Given the description of an element on the screen output the (x, y) to click on. 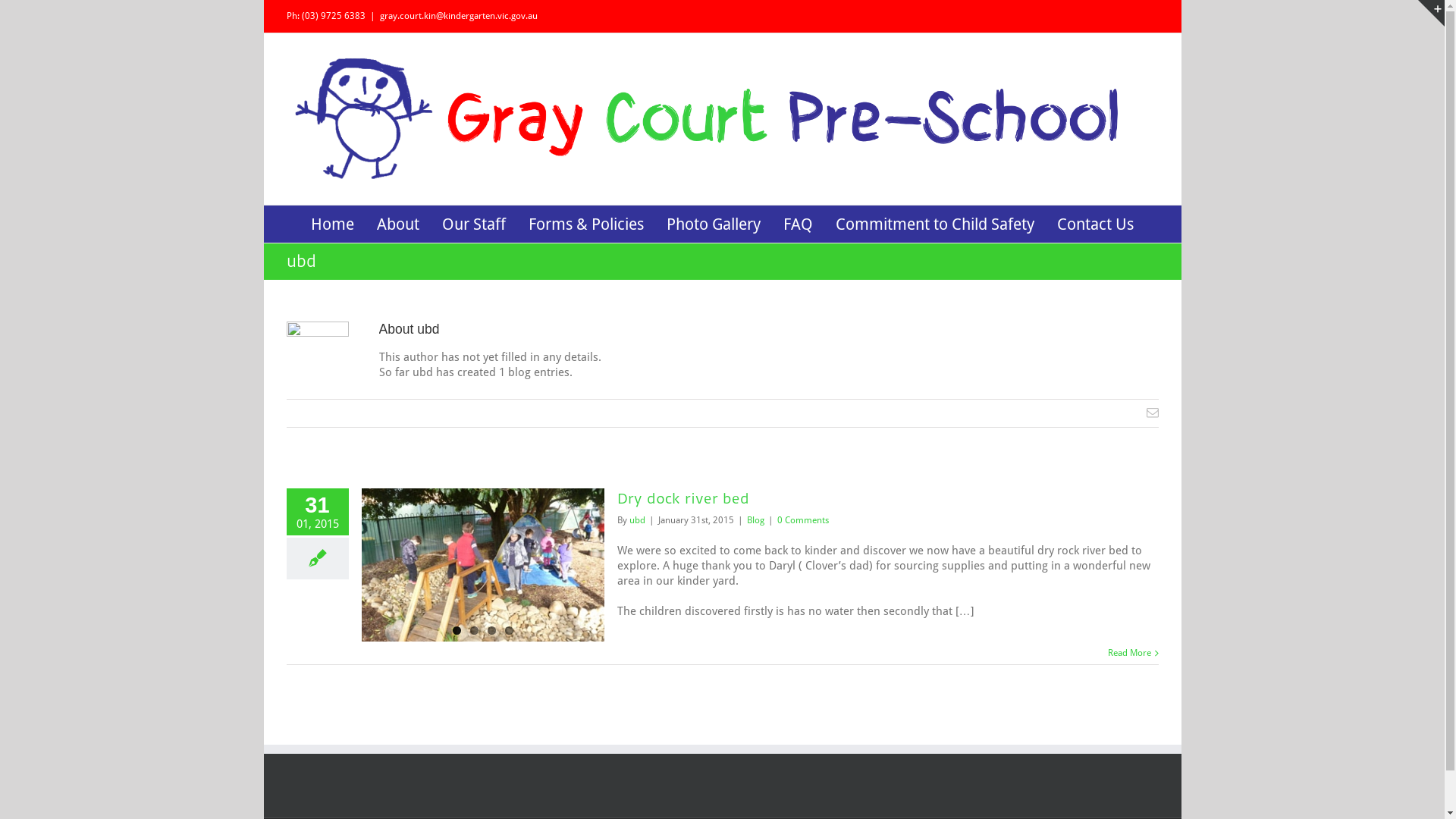
ubd Element type: text (637, 519)
Forms & Policies Element type: text (585, 222)
Our Staff Element type: text (473, 222)
gray.court.kin@kindergarten.vic.gov.au Element type: text (457, 15)
Dry dock river bed Element type: text (683, 498)
Mail Element type: hover (1152, 412)
About Element type: text (397, 222)
1 Element type: text (455, 630)
Commitment to Child Safety Element type: text (934, 222)
Home Element type: text (332, 222)
Blog Element type: text (754, 519)
3 Element type: text (490, 630)
2 Element type: text (474, 630)
FAQ Element type: text (797, 222)
Contact Us Element type: text (1095, 222)
Read More Element type: text (1128, 652)
4 Element type: text (509, 630)
Photo Gallery Element type: text (713, 222)
0 Comments Element type: text (802, 519)
